Given the description of an element on the screen output the (x, y) to click on. 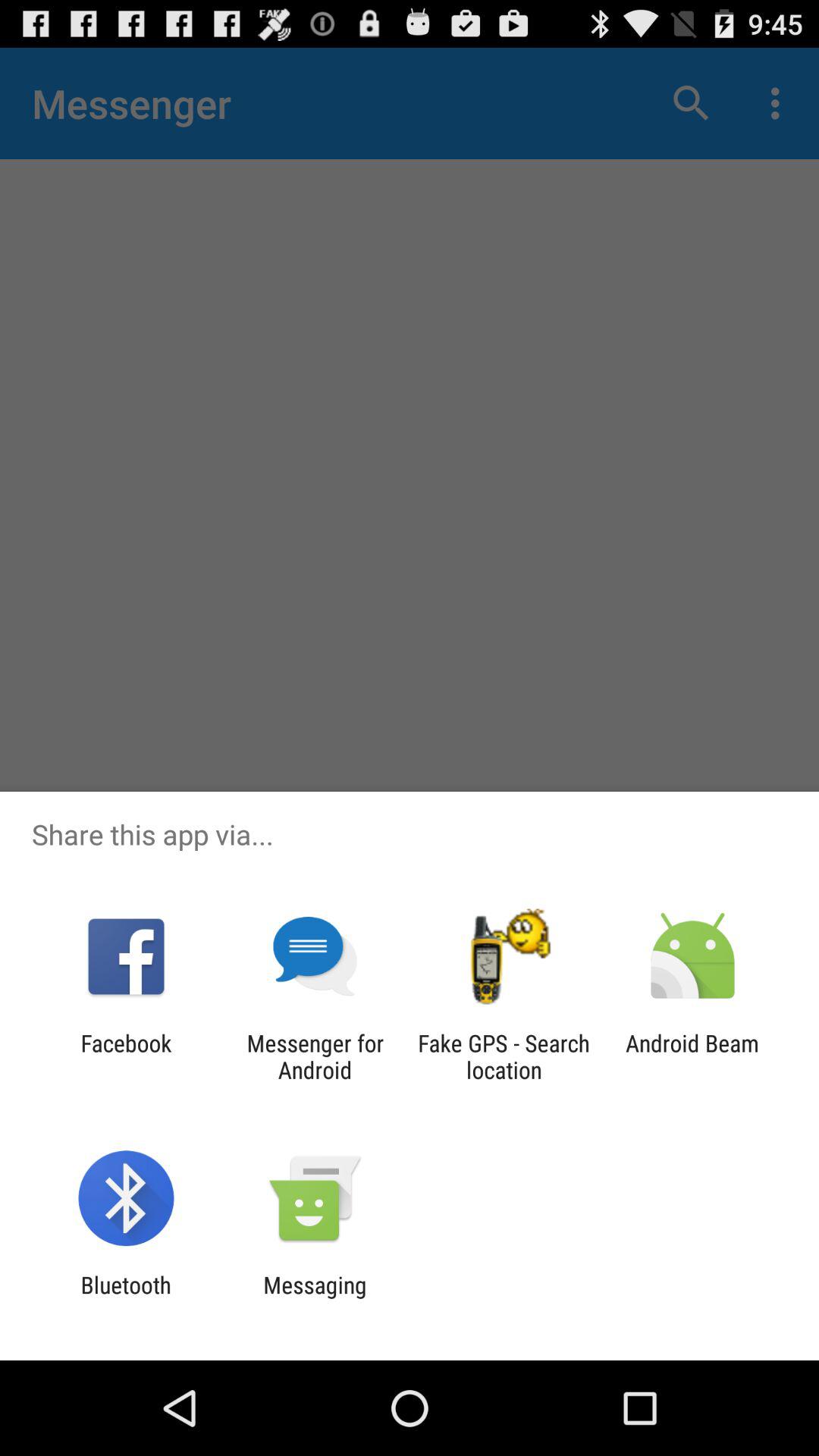
choose the app next to fake gps search (314, 1056)
